Given the description of an element on the screen output the (x, y) to click on. 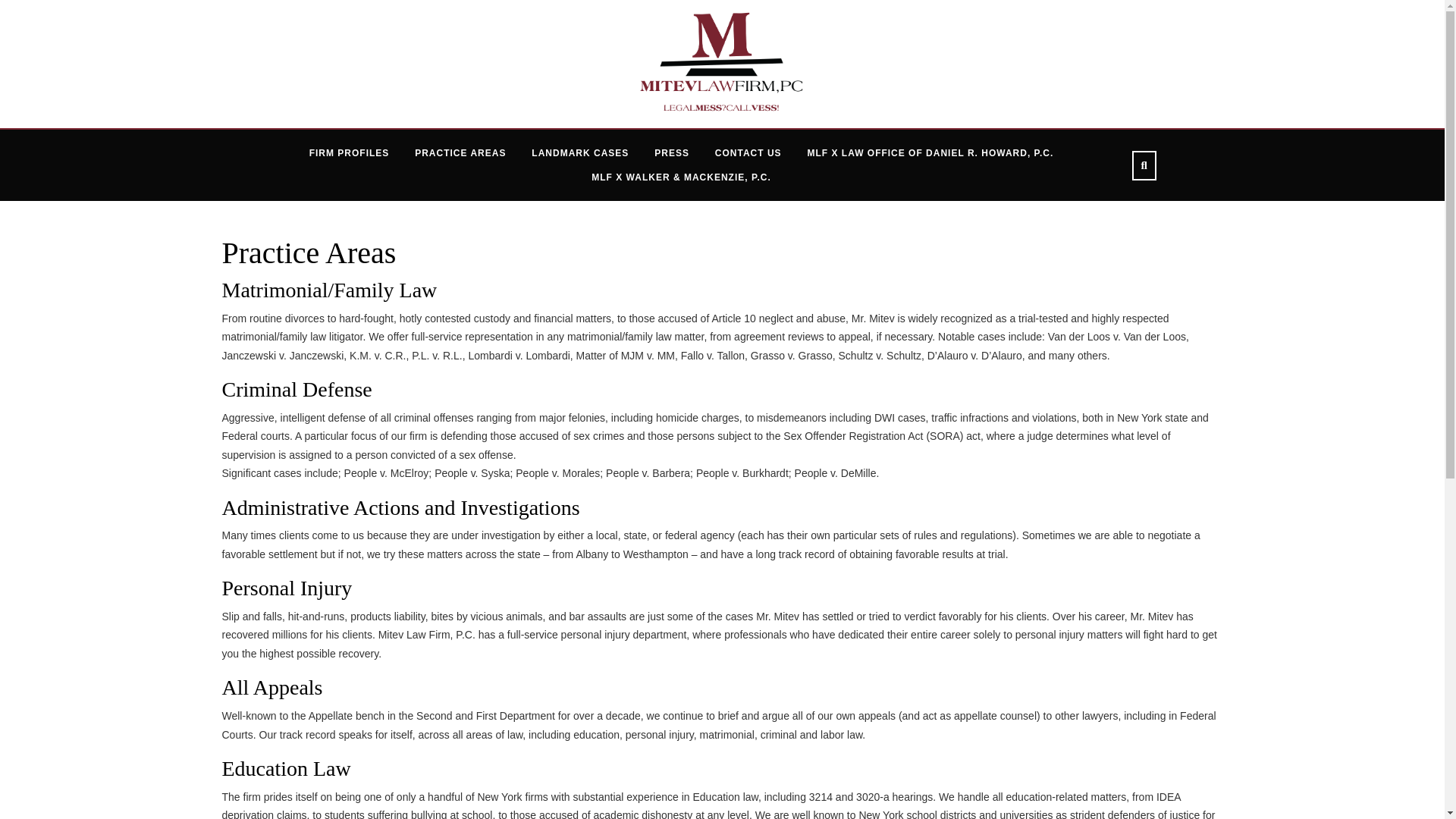
MLF X LAW OFFICE OF DANIEL R. HOWARD, P.C. (929, 152)
FIRM PROFILES (349, 152)
CONTACT US (748, 152)
LANDMARK CASES (579, 152)
PRACTICE AREAS (459, 152)
PRESS (671, 152)
